Given the description of an element on the screen output the (x, y) to click on. 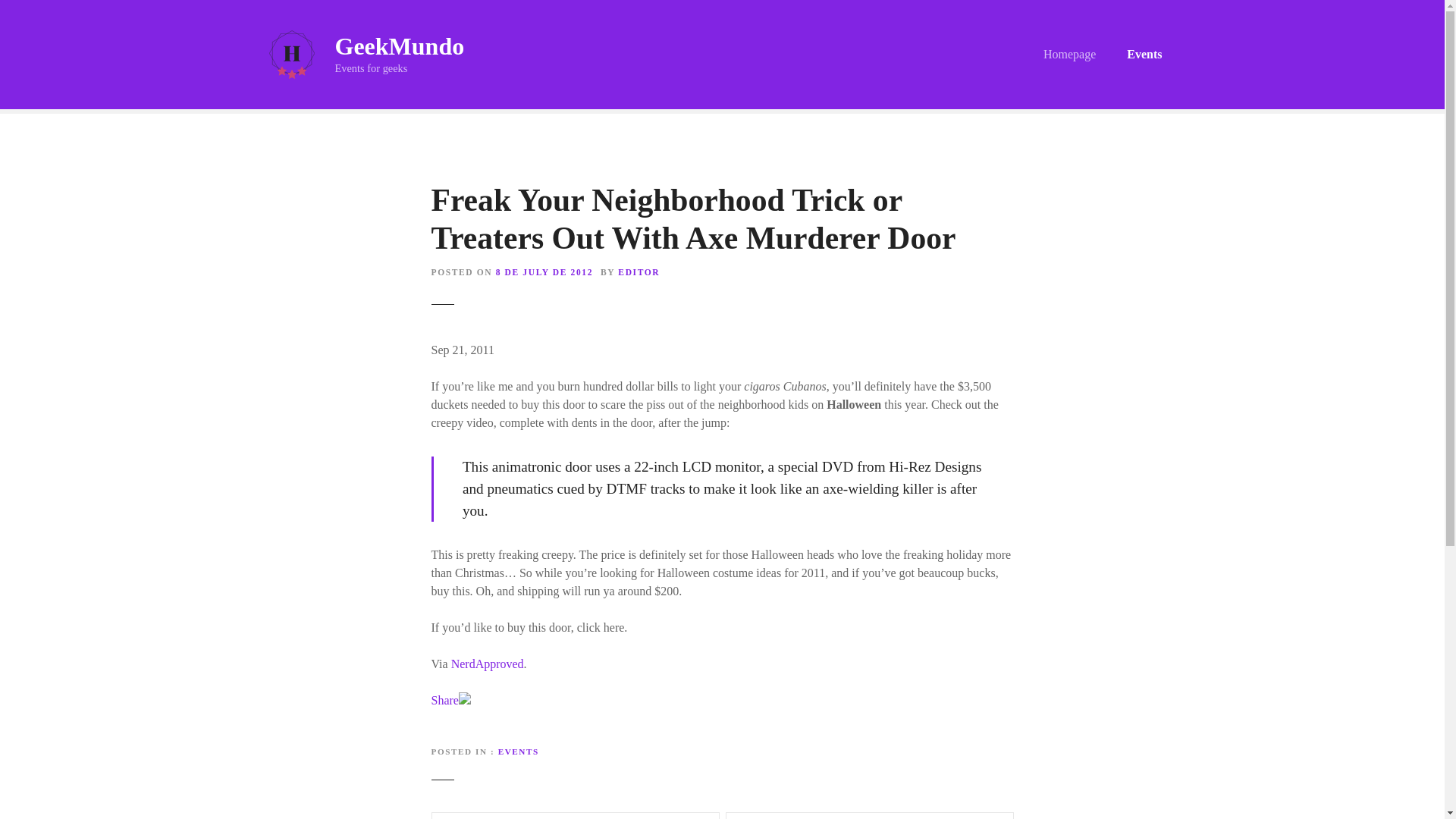
EVENTS (517, 750)
Share (444, 699)
EDITOR (638, 271)
8 DE JULY DE 2012 (544, 271)
NEW AMAZING SPIDER-MAN TRAILER HITS WEB! (869, 815)
Homepage (1068, 54)
GEEK ART: AWESOME VOLTRON PAPER MODEL ALSO TRANSFORMS! (574, 815)
GeekMundo (399, 45)
NerdApproved (487, 663)
Events (1144, 54)
